Given the description of an element on the screen output the (x, y) to click on. 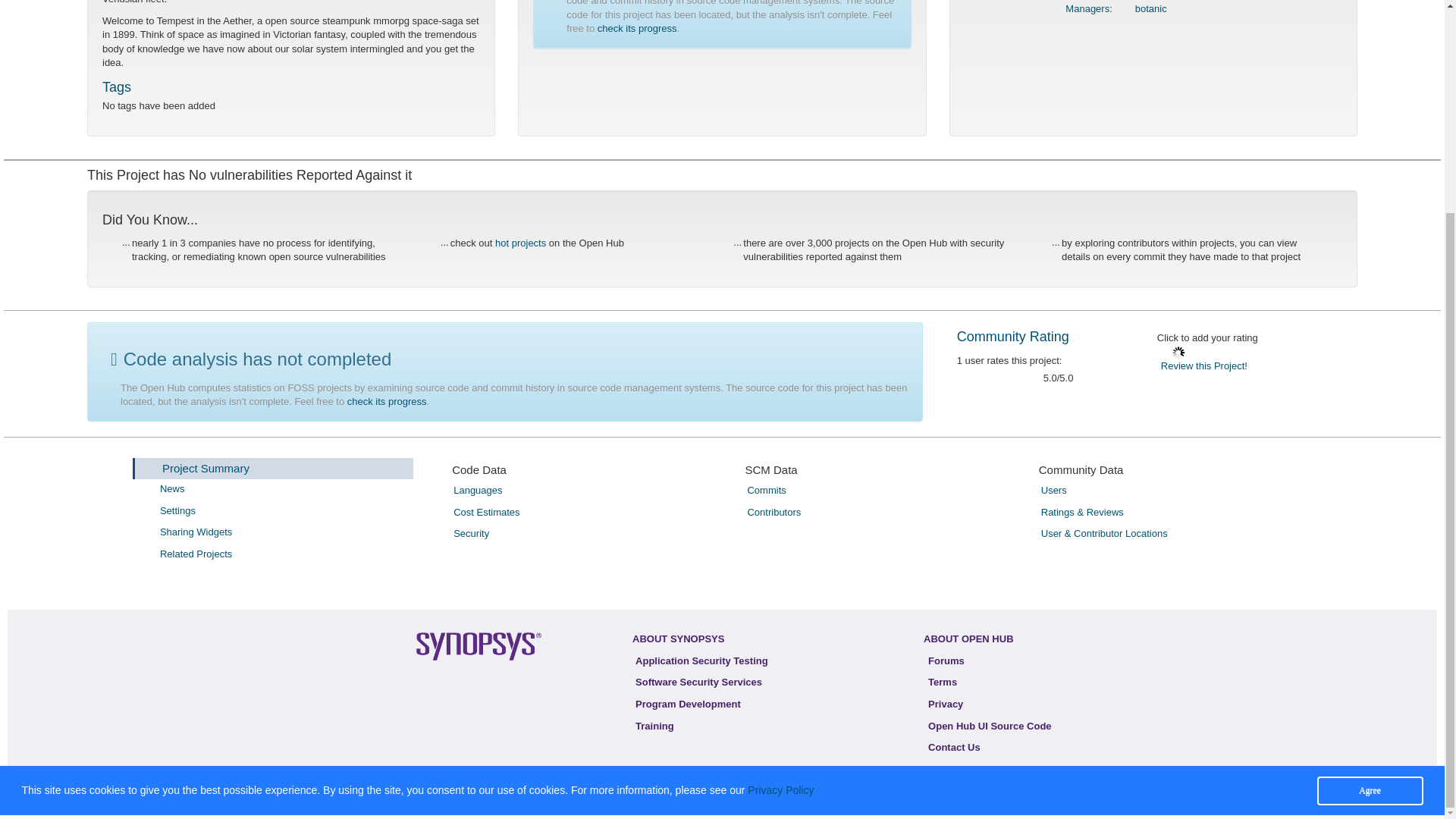
check its progress (636, 28)
News (288, 489)
botanic (1151, 8)
Community Rating (1012, 336)
Project Summary (204, 468)
Settings (288, 511)
hot projects (520, 242)
check its progress (386, 401)
Managers: (1088, 8)
Review this Project! (1203, 365)
